Given the description of an element on the screen output the (x, y) to click on. 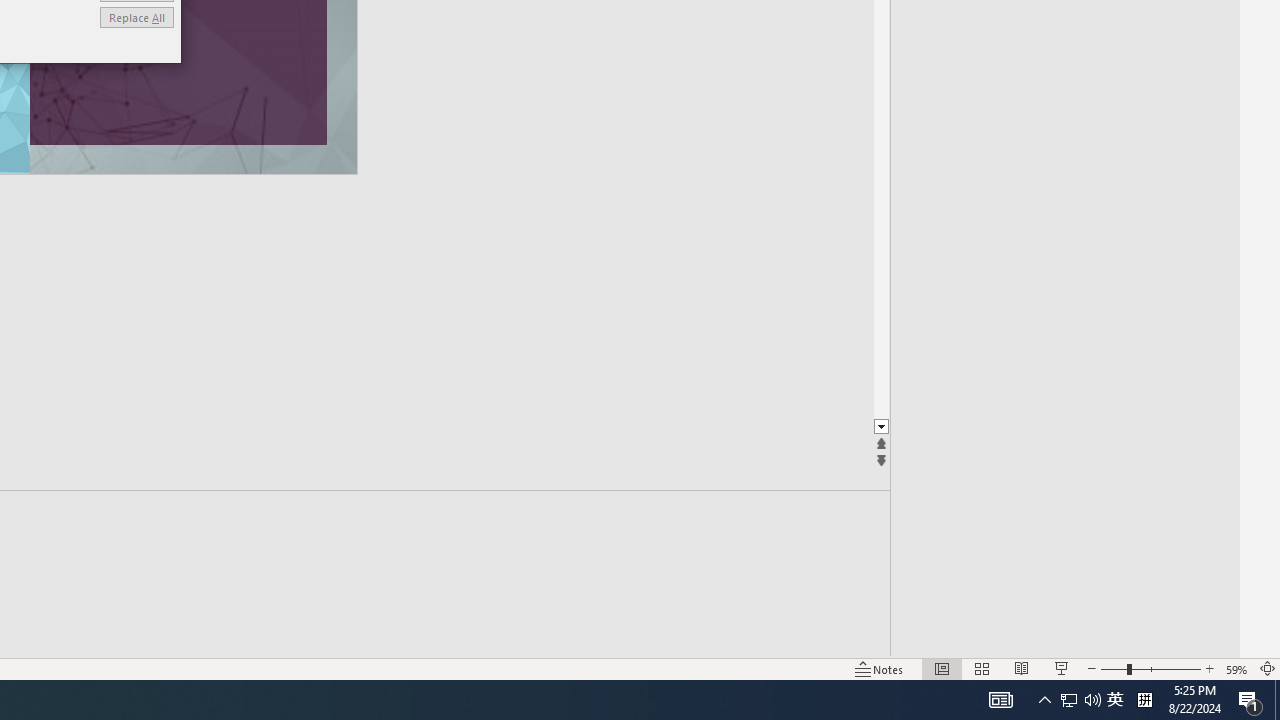
Q2790: 100% (1092, 699)
Show desktop (1277, 699)
AutomationID: 4105 (1000, 699)
Action Center, 1 new notification (1250, 699)
